Given the description of an element on the screen output the (x, y) to click on. 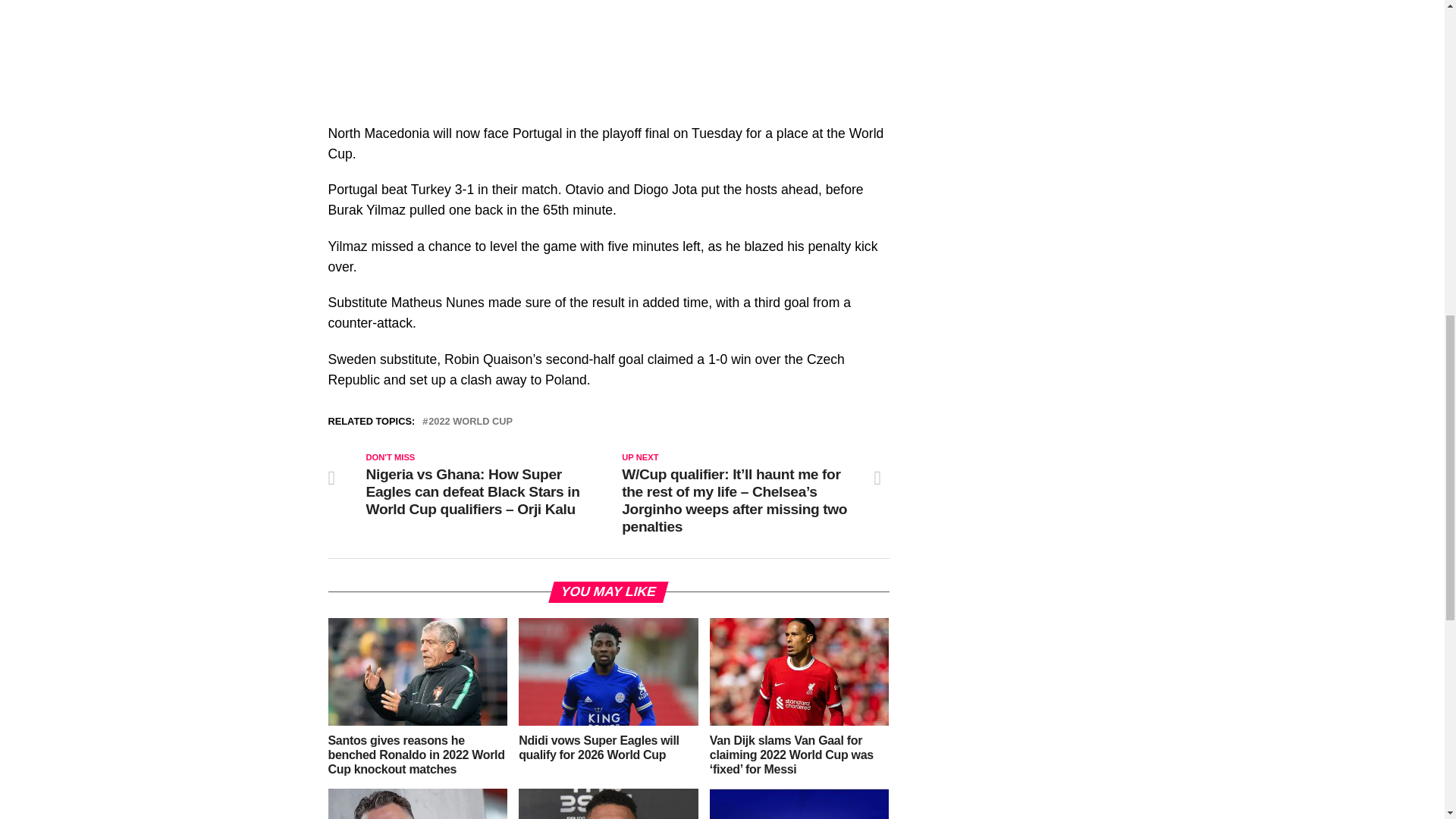
2022 WORLD CUP (470, 421)
